Given the description of an element on the screen output the (x, y) to click on. 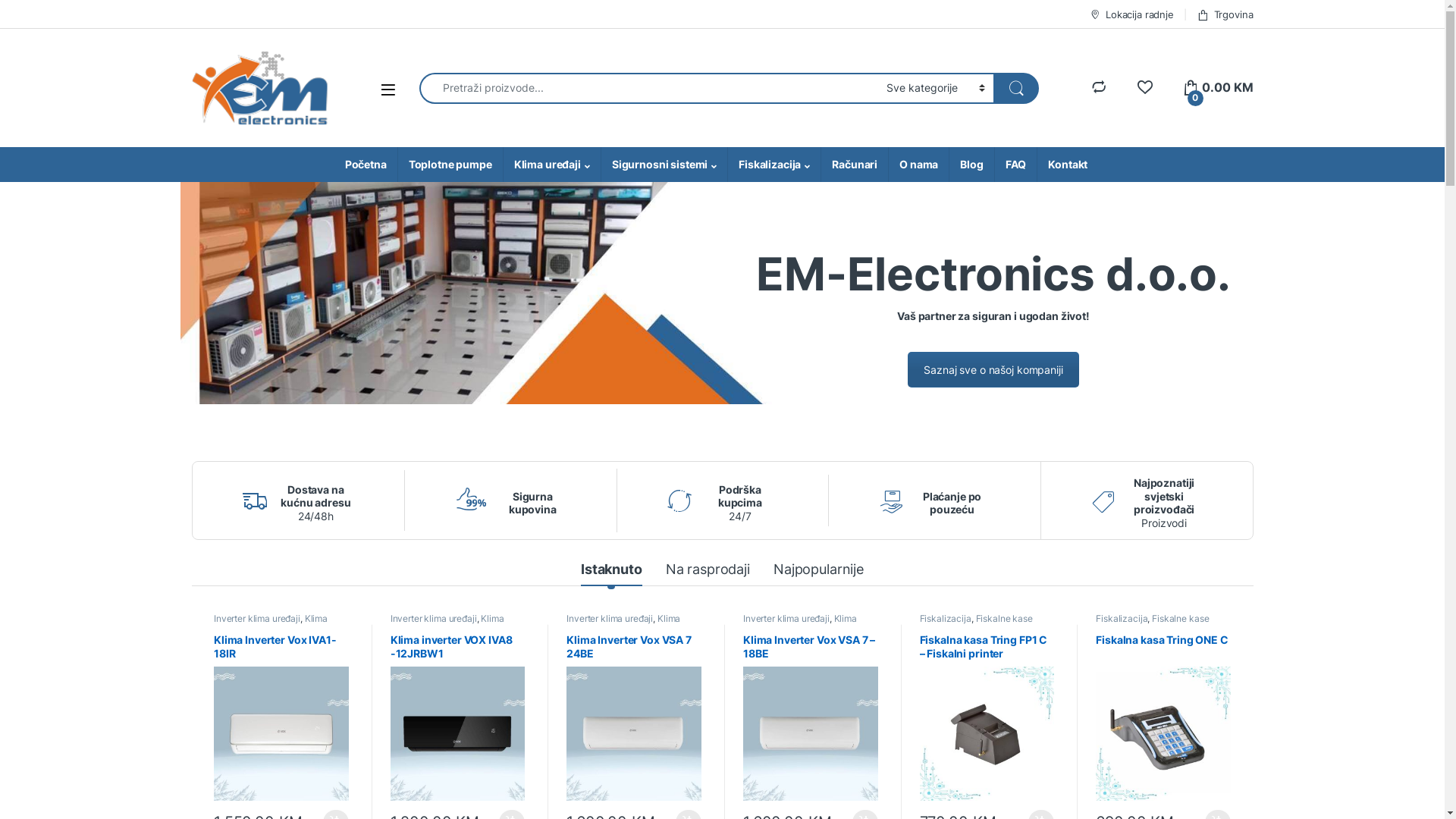
Fiskalizacija Element type: text (945, 618)
Fiskalne kase Element type: text (1179, 618)
0
0.00 KM Element type: text (1217, 87)
Toplotne pumpe Element type: text (449, 164)
Klima Inverter Vox IVA1-18IR Element type: text (280, 717)
Klima inverter VOX IVA8 -12JRBW1 Element type: text (457, 717)
O nama Element type: text (918, 164)
Istaknuto Element type: text (611, 571)
Fiskalna kasa Tring ONE C Element type: text (1162, 717)
Klima Inverter Vox VSA 7 24BE Element type: text (633, 717)
Kontakt Element type: text (1067, 164)
Fiskalizacija Element type: text (773, 164)
Fiskalne kase Element type: text (1003, 618)
Najpopularnije Element type: text (818, 571)
Fiskalizacija Element type: text (1121, 618)
Lokacija radnje Element type: text (1130, 14)
Na rasprodaji Element type: text (707, 571)
Blog Element type: text (970, 164)
Trgovina Element type: text (1224, 14)
FAQ Element type: text (1015, 164)
Sigurnosni sistemi Element type: text (663, 164)
